Given the description of an element on the screen output the (x, y) to click on. 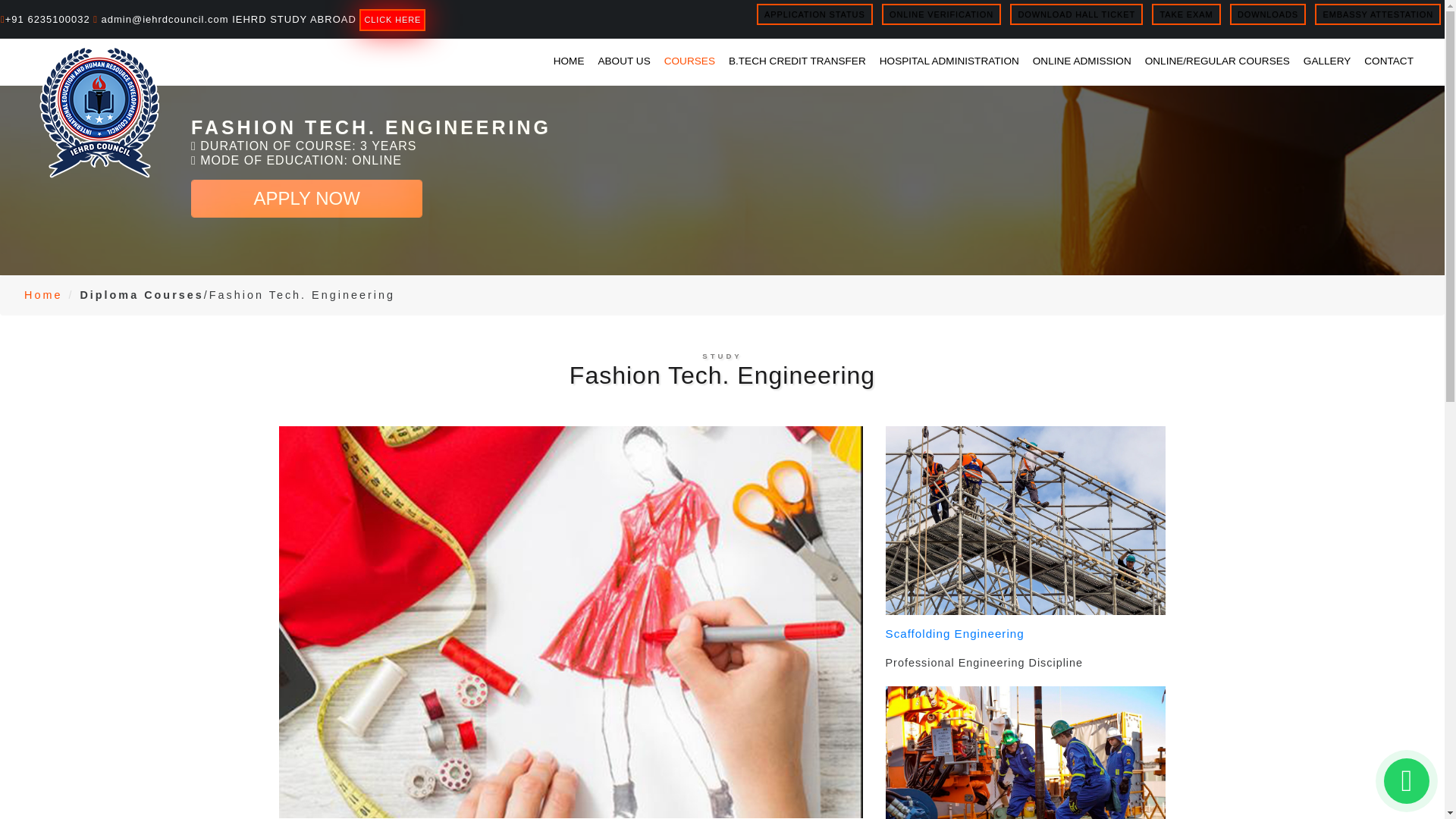
ONLINE ADMISSION (1081, 61)
APPLY NOW (306, 198)
APPLICATION STATUS (814, 14)
ONLINE VERIFICATION (941, 14)
TAKE EXAM (1185, 14)
GALLERY (1326, 61)
EMBASSY ATTESTATION (1377, 14)
CLICK HERE (392, 20)
Home (43, 295)
CONTACT (1388, 61)
